Given the description of an element on the screen output the (x, y) to click on. 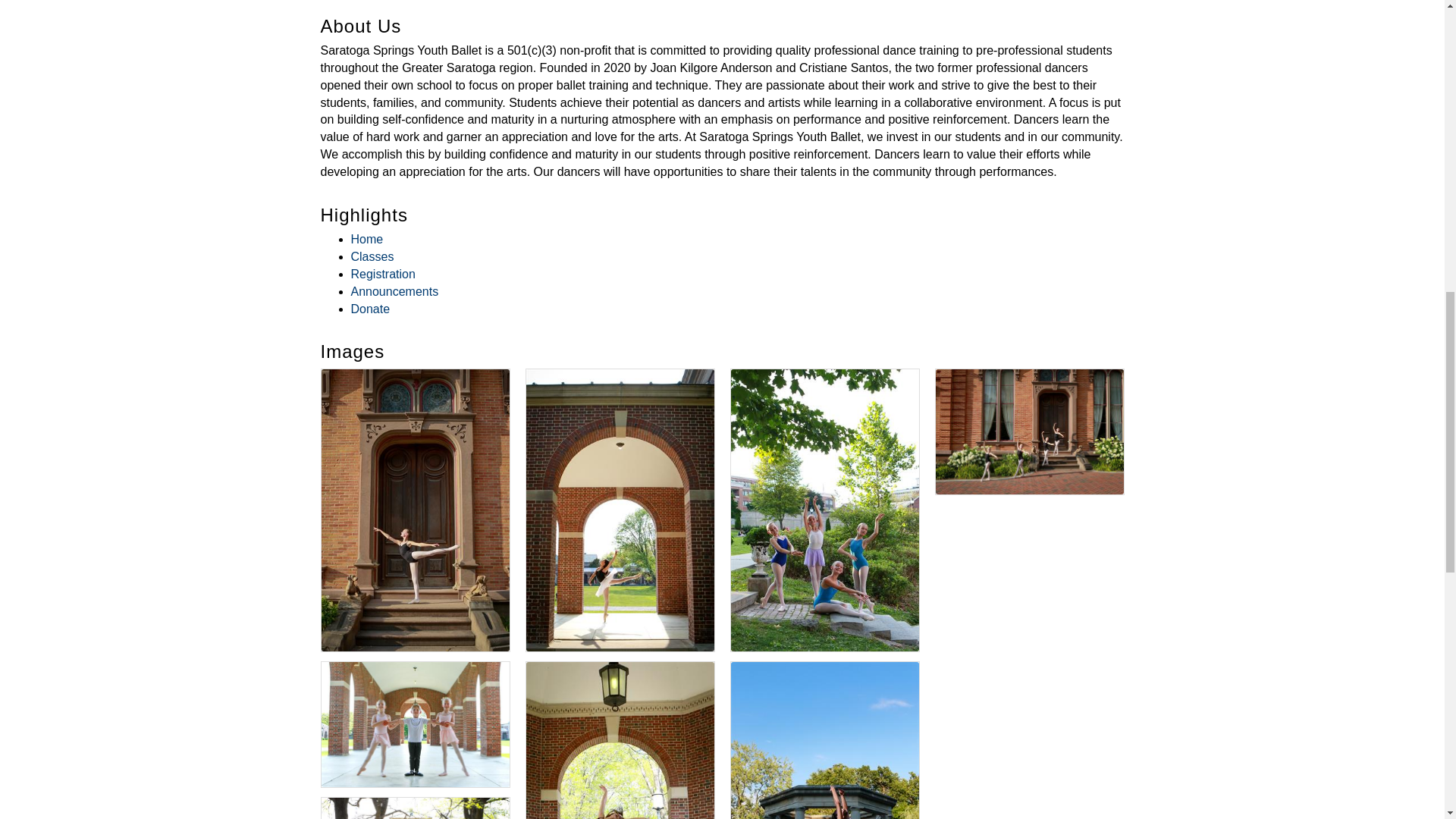
Registration (382, 273)
Susan Blackburn Photography (824, 740)
Susan Blackburn Photography (619, 740)
Susan Blackburn Photography (415, 808)
Donate (370, 308)
Home (366, 238)
Classes (371, 256)
Announcements (394, 291)
Susan Blackburn Photography (415, 724)
